Given the description of an element on the screen output the (x, y) to click on. 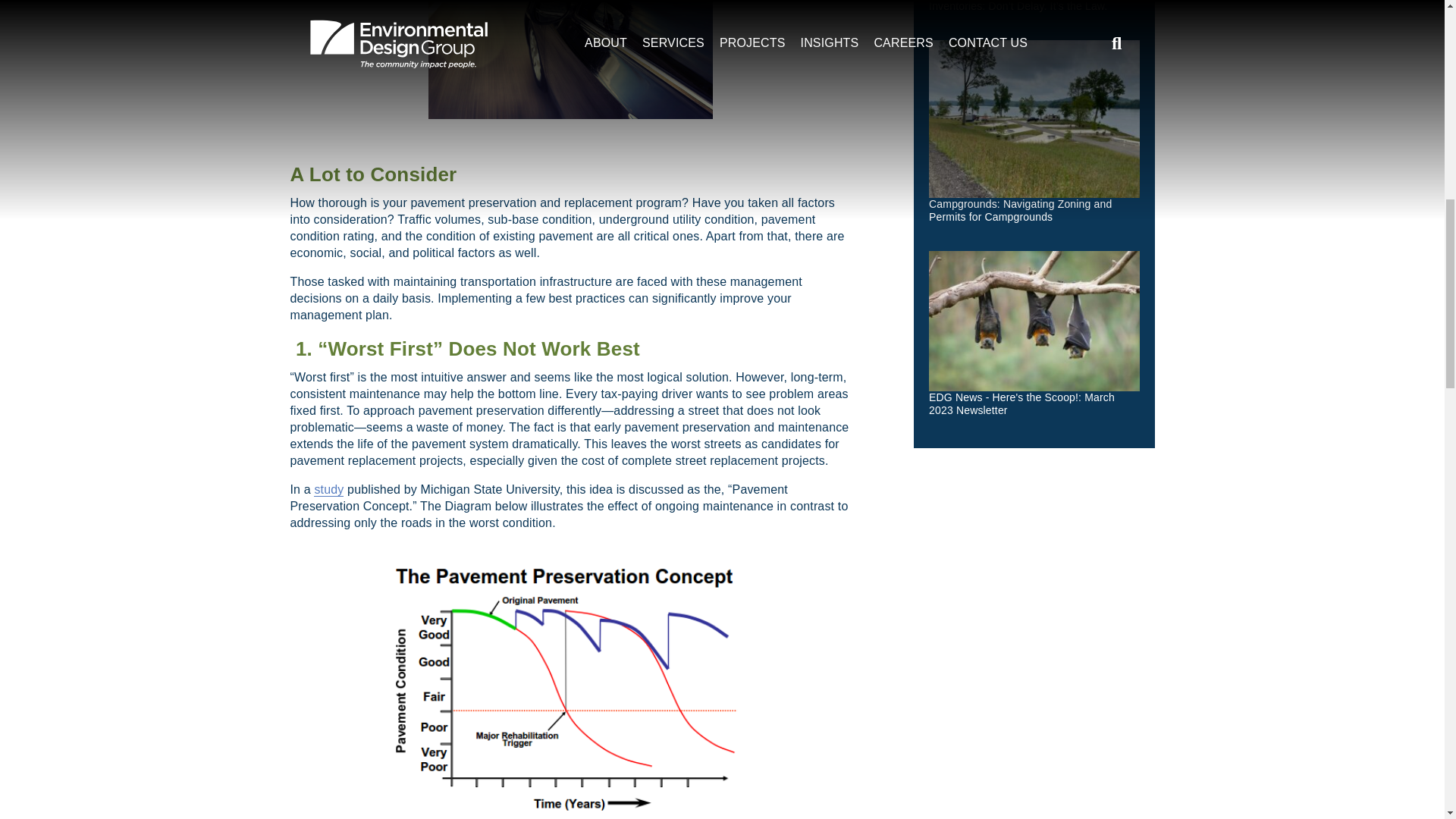
study (328, 489)
